Given the description of an element on the screen output the (x, y) to click on. 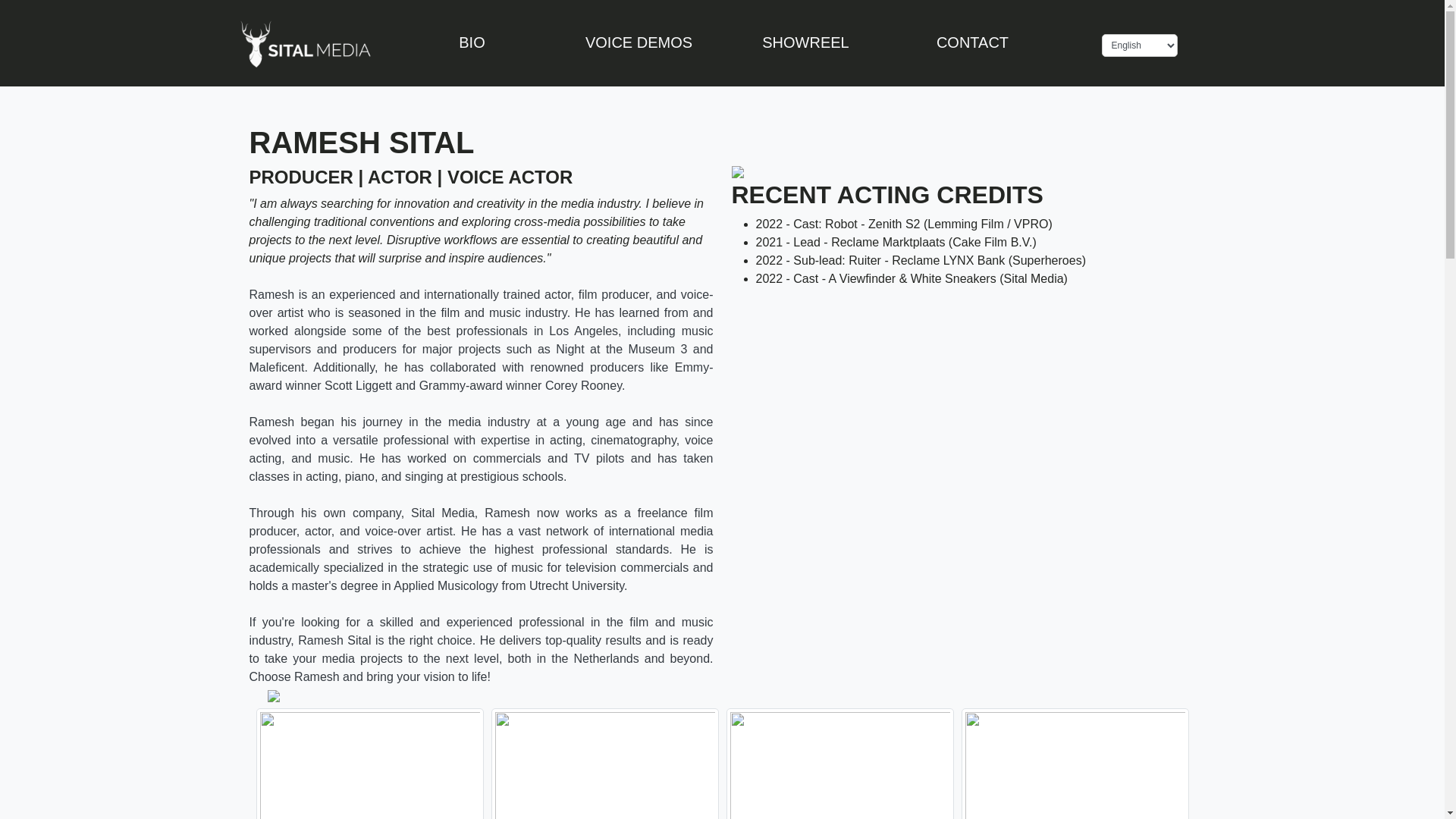
VOICE DEMOS (638, 42)
CONTACT (972, 42)
Test (304, 45)
SHOWREEL (804, 42)
BIO (471, 42)
